Given the description of an element on the screen output the (x, y) to click on. 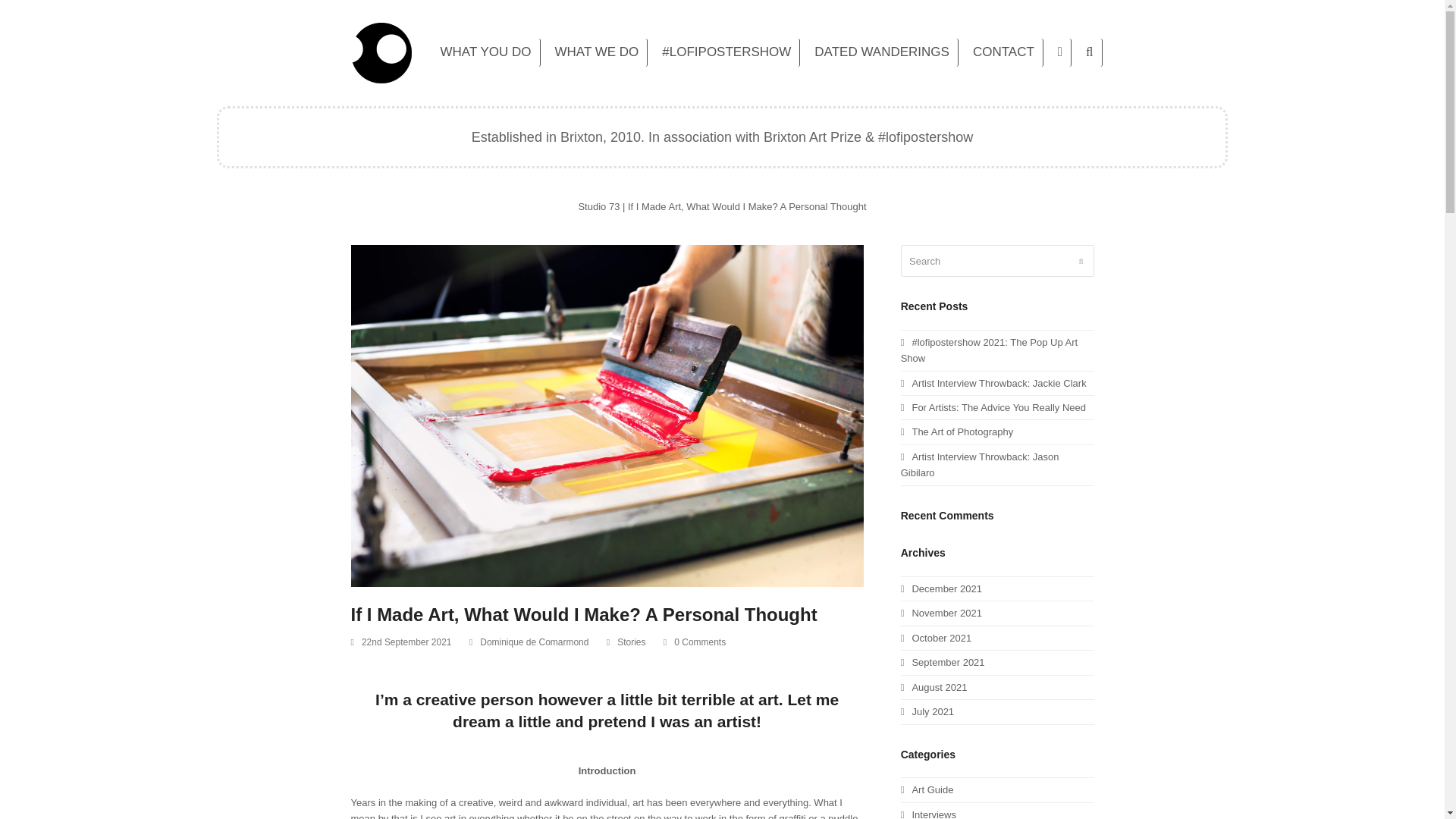
The Art of Photography (957, 431)
For Artists: The Advice You Really Need (993, 407)
WHAT WE DO (596, 53)
0 Comments (694, 642)
Artist Interview Throwback: Jackie Clark (993, 383)
December 2021 (941, 588)
Dominique de Comarmond (534, 642)
Posts by Dominique de Comarmond (534, 642)
0 Comments (699, 642)
Artist Interview Throwback: Jason Gibilaro (980, 464)
